Given the description of an element on the screen output the (x, y) to click on. 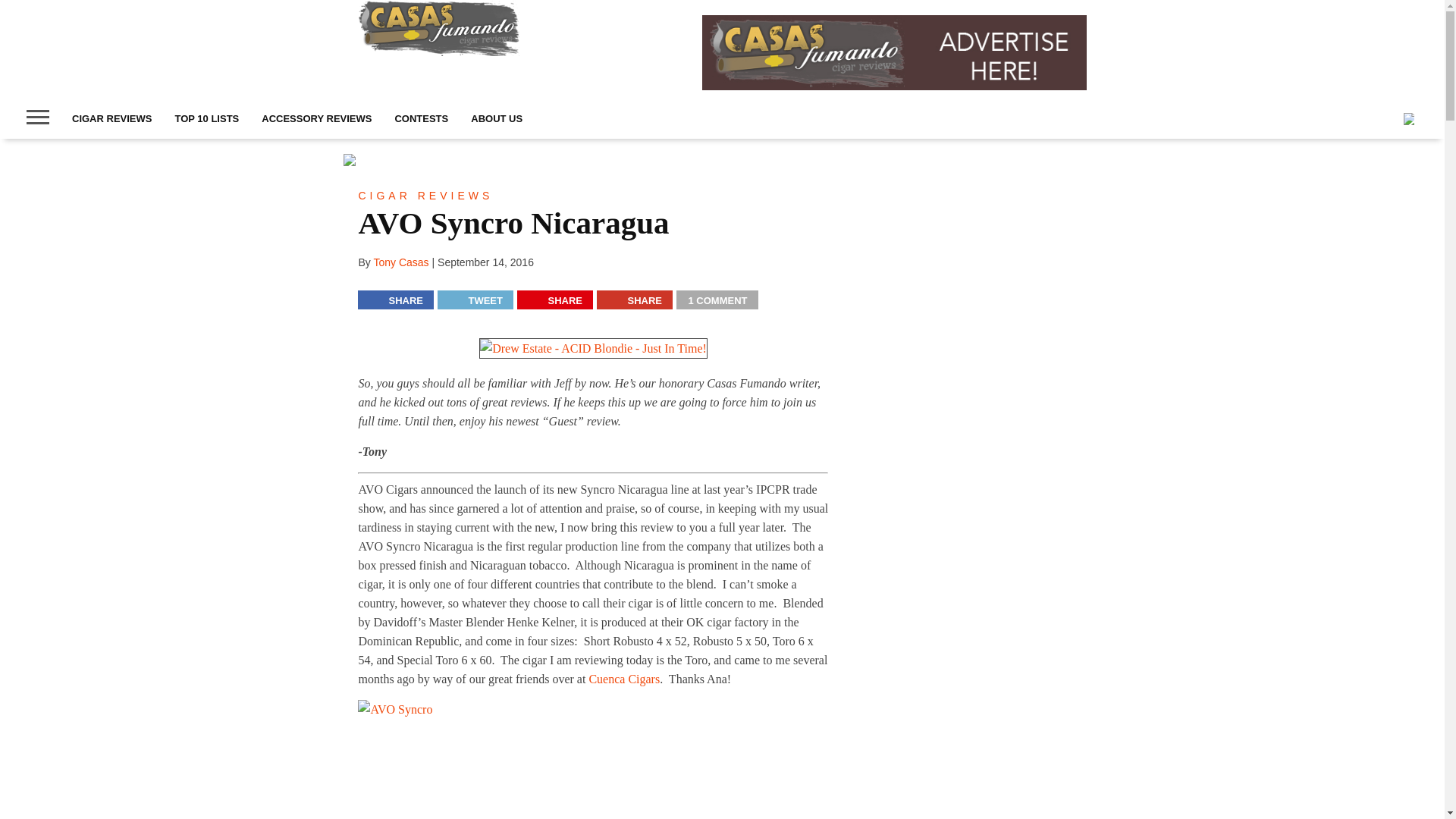
Posts by Tony Casas (400, 262)
CONTESTS (421, 117)
Drew Estate - ACID Blondie - Just In Time! (593, 348)
ABOUT US (497, 117)
CIGAR REVIEWS (112, 117)
TOP 10 LISTS (206, 117)
Drew Estate - ACID Blondie - Just In Time! (593, 348)
Cuenca Cigars (623, 678)
ACCESSORY REVIEWS (316, 117)
Tony Casas (400, 262)
